Given the description of an element on the screen output the (x, y) to click on. 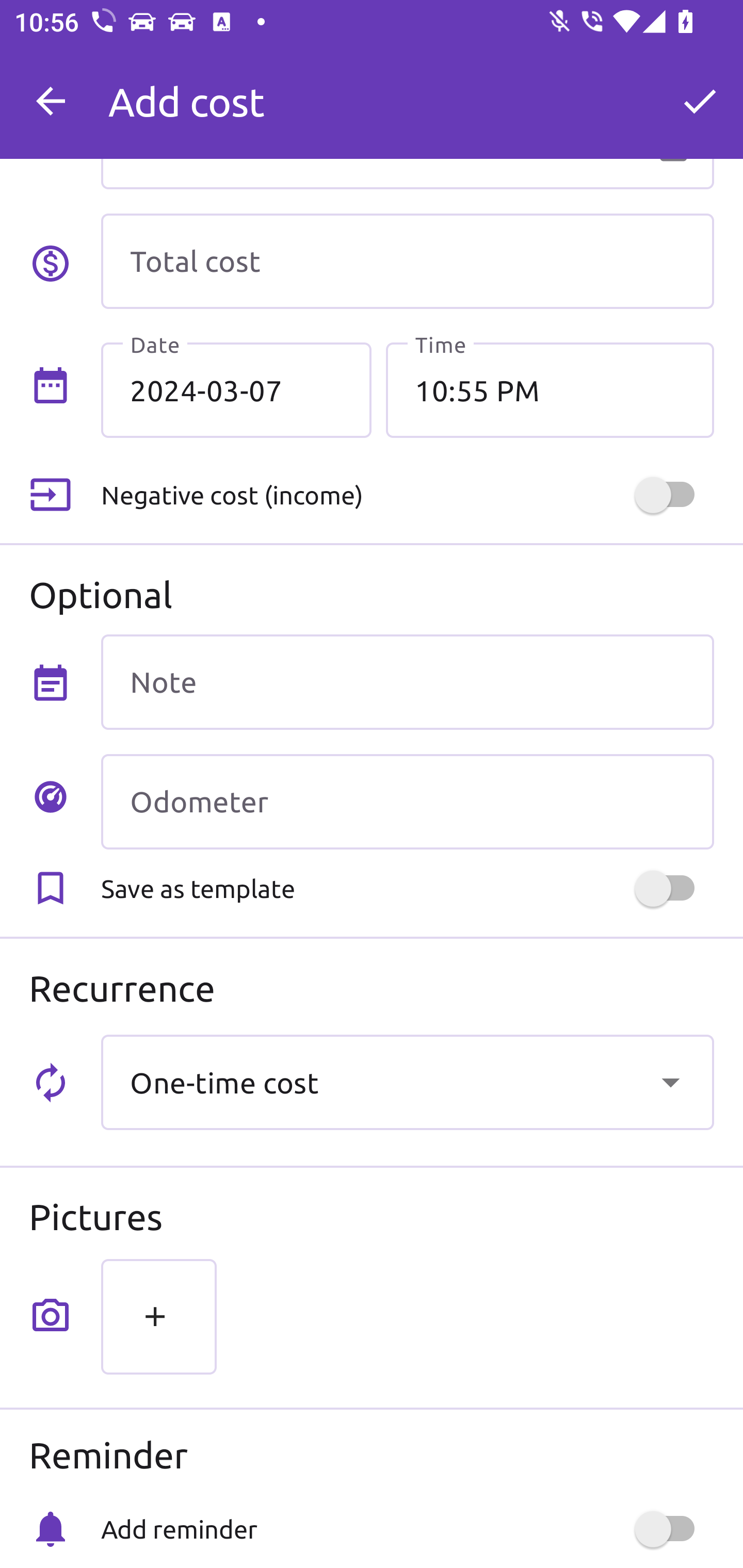
M My Car 0 km (407, 92)
Navigate up (50, 101)
OK (699, 101)
Total cost  (407, 260)
2024-03-07 (236, 389)
10:55 PM (549, 389)
Negative cost (income) (407, 494)
Note (407, 682)
Odometer (407, 801)
Save as template (407, 887)
One-time cost (407, 1082)
Show dropdown menu (670, 1081)
Add reminder (407, 1529)
